Given the description of an element on the screen output the (x, y) to click on. 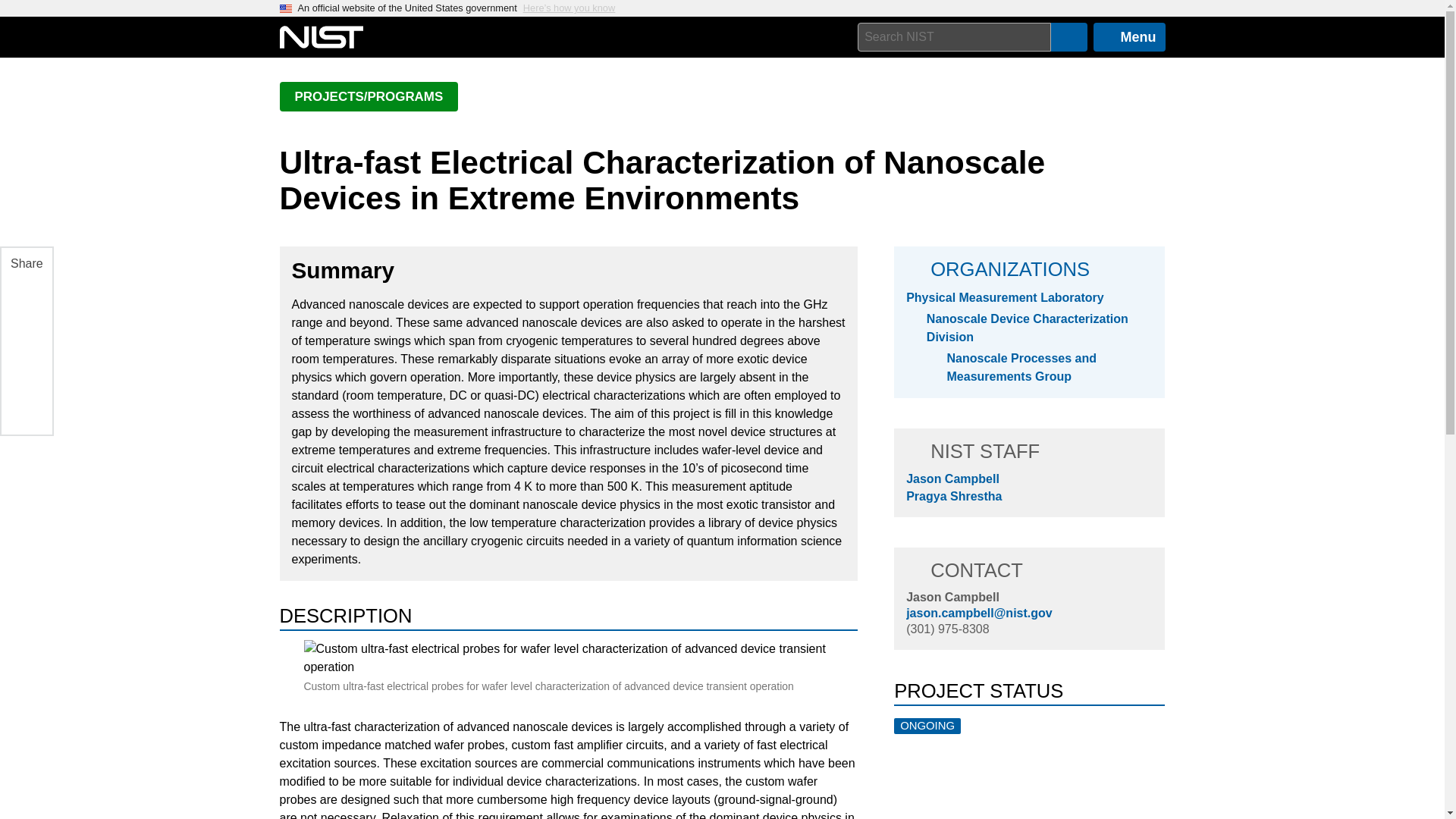
Email (25, 404)
View staff profile page (951, 596)
Linkedin (25, 333)
Facebook (25, 297)
Twitter (25, 368)
National Institute of Standards and Technology (320, 36)
Menu (1129, 36)
